Given the description of an element on the screen output the (x, y) to click on. 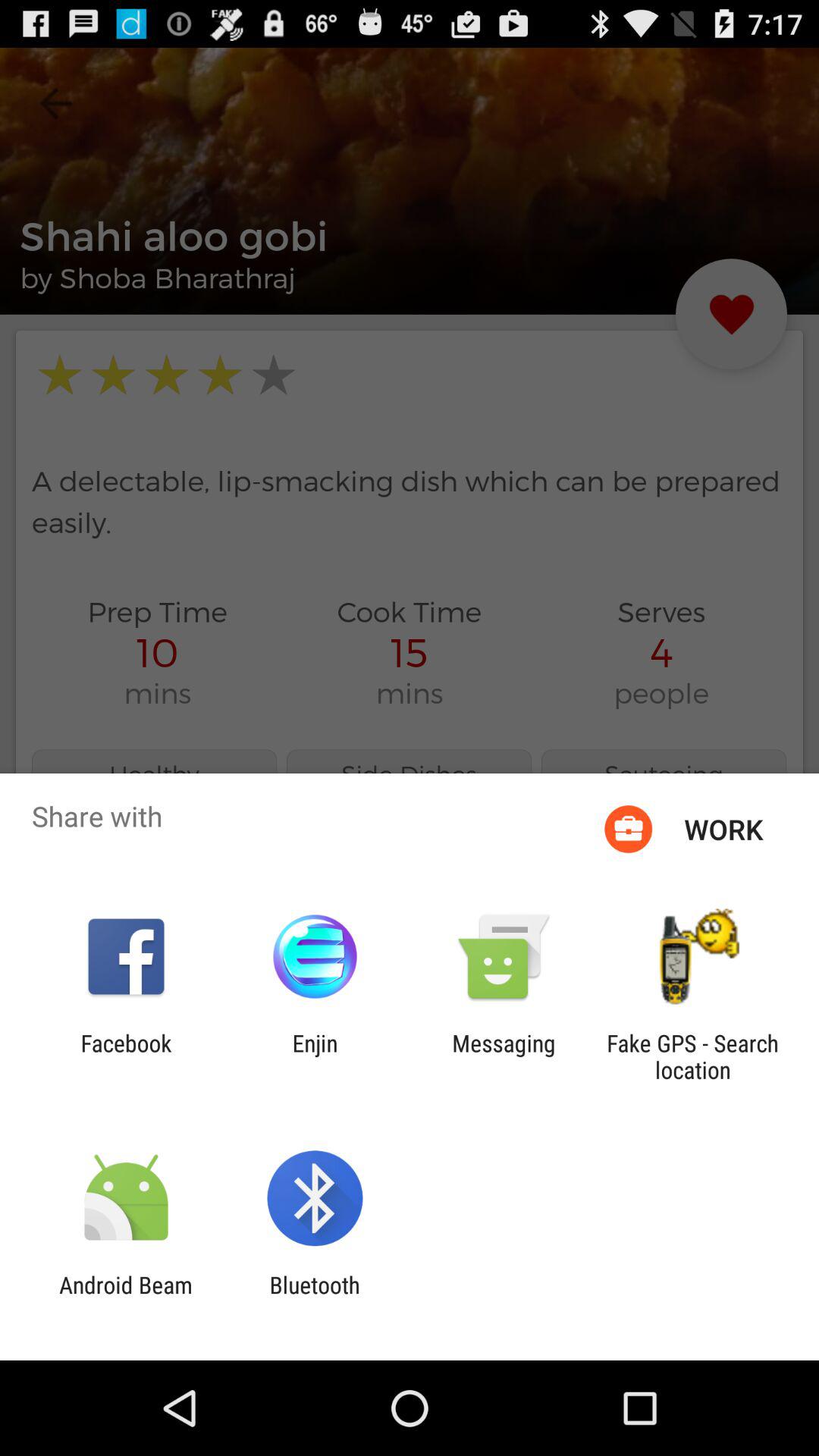
select facebook icon (125, 1056)
